Given the description of an element on the screen output the (x, y) to click on. 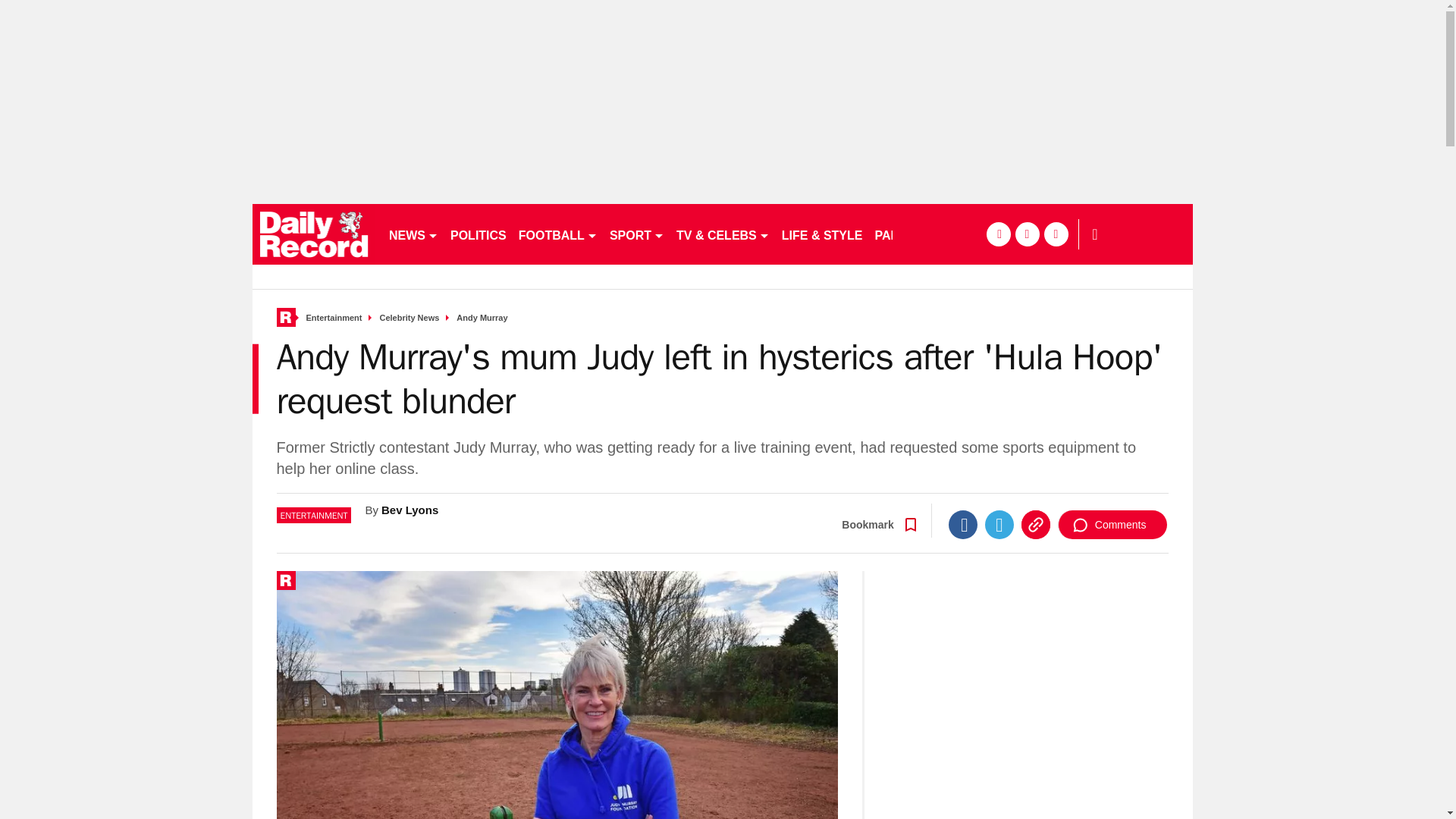
Twitter (999, 524)
instagram (1055, 233)
twitter (1026, 233)
FOOTBALL (558, 233)
SPORT (636, 233)
NEWS (413, 233)
Comments (1112, 524)
Facebook (962, 524)
POLITICS (478, 233)
dailyrecord (313, 233)
facebook (997, 233)
